Given the description of an element on the screen output the (x, y) to click on. 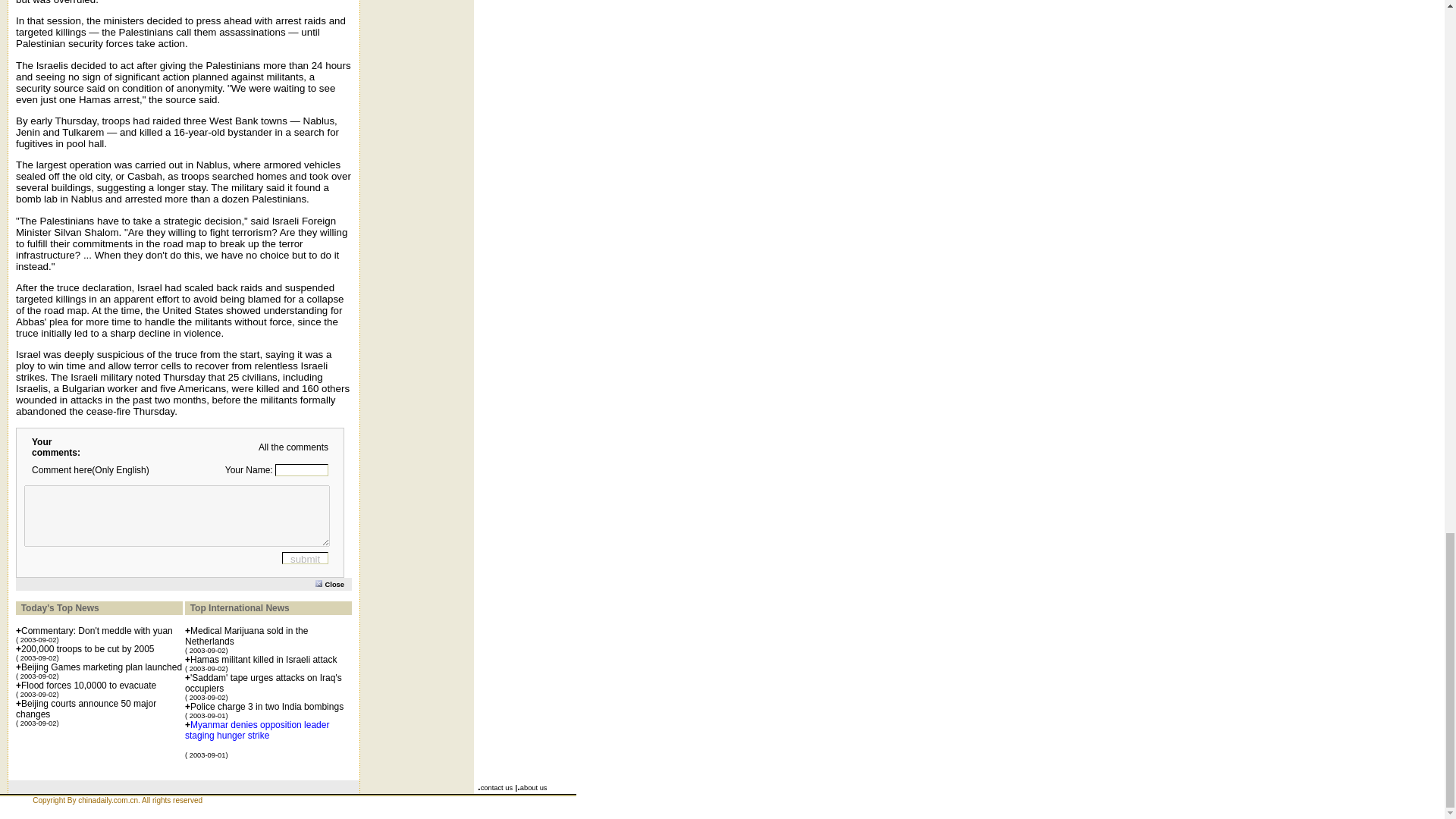
Flood forces 10,0000 to evacuate (88, 685)
Myanmar denies opposition leader staging hunger strike (256, 730)
Close (333, 583)
200,000 troops to be cut by 2005 (87, 648)
Beijing courts announce 50 major changes (85, 708)
Beijing Games marketing plan launched (101, 666)
 submit  (305, 558)
Commentary: Don't meddle with yuan (97, 630)
Medical Marijuana sold in the Netherlands (245, 636)
 submit  (305, 558)
All the comments (294, 447)
Police charge 3 in two India bombings (266, 706)
'Saddam' tape urges attacks on Iraq's occupiers (263, 682)
Hamas militant killed in Israeli attack (263, 659)
